Given the description of an element on the screen output the (x, y) to click on. 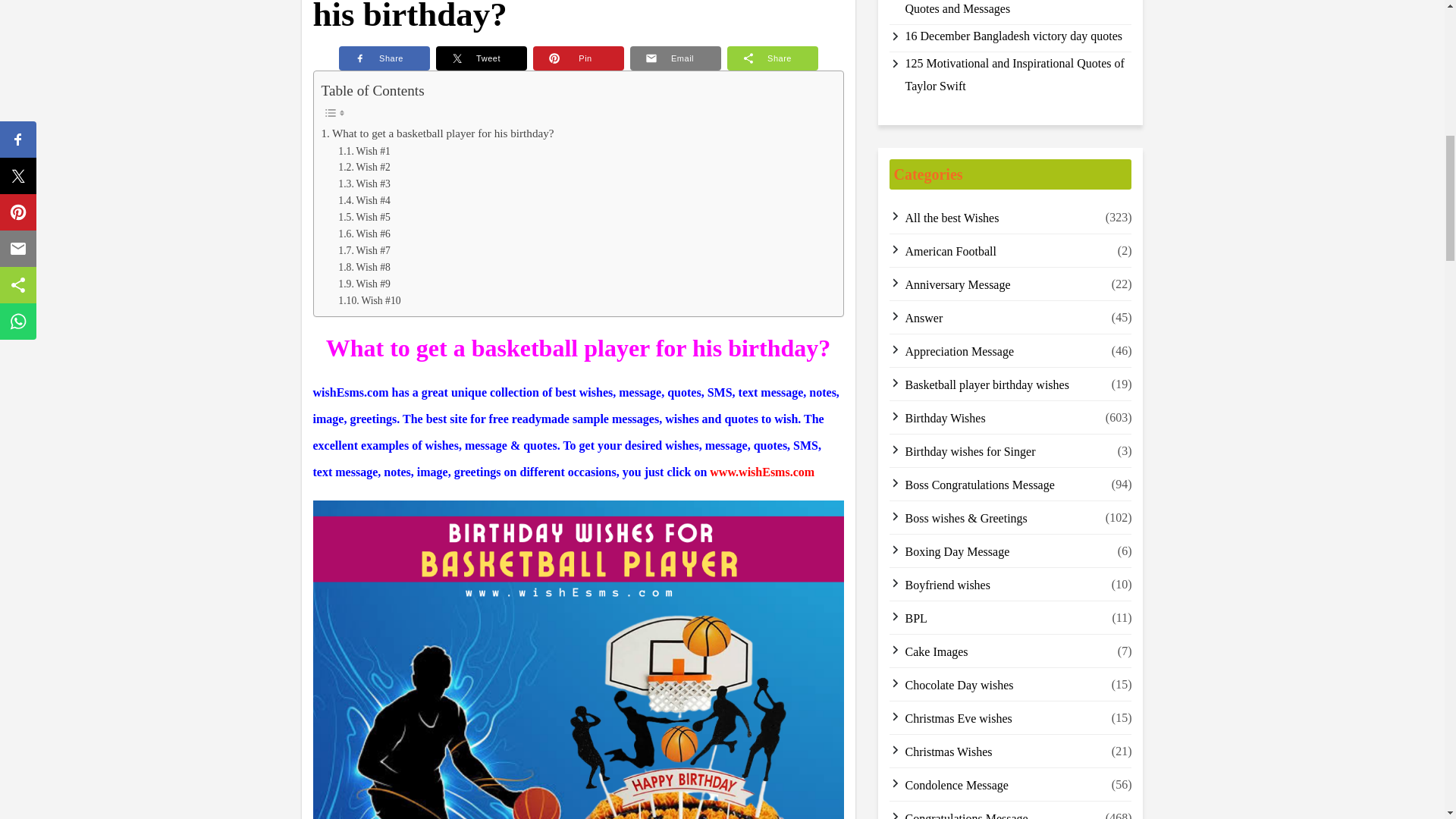
www.wishEsms.com (761, 472)
What to get a basketball player for his birthday? (437, 133)
What to get a basketball player for his birthday? (437, 133)
